Given the description of an element on the screen output the (x, y) to click on. 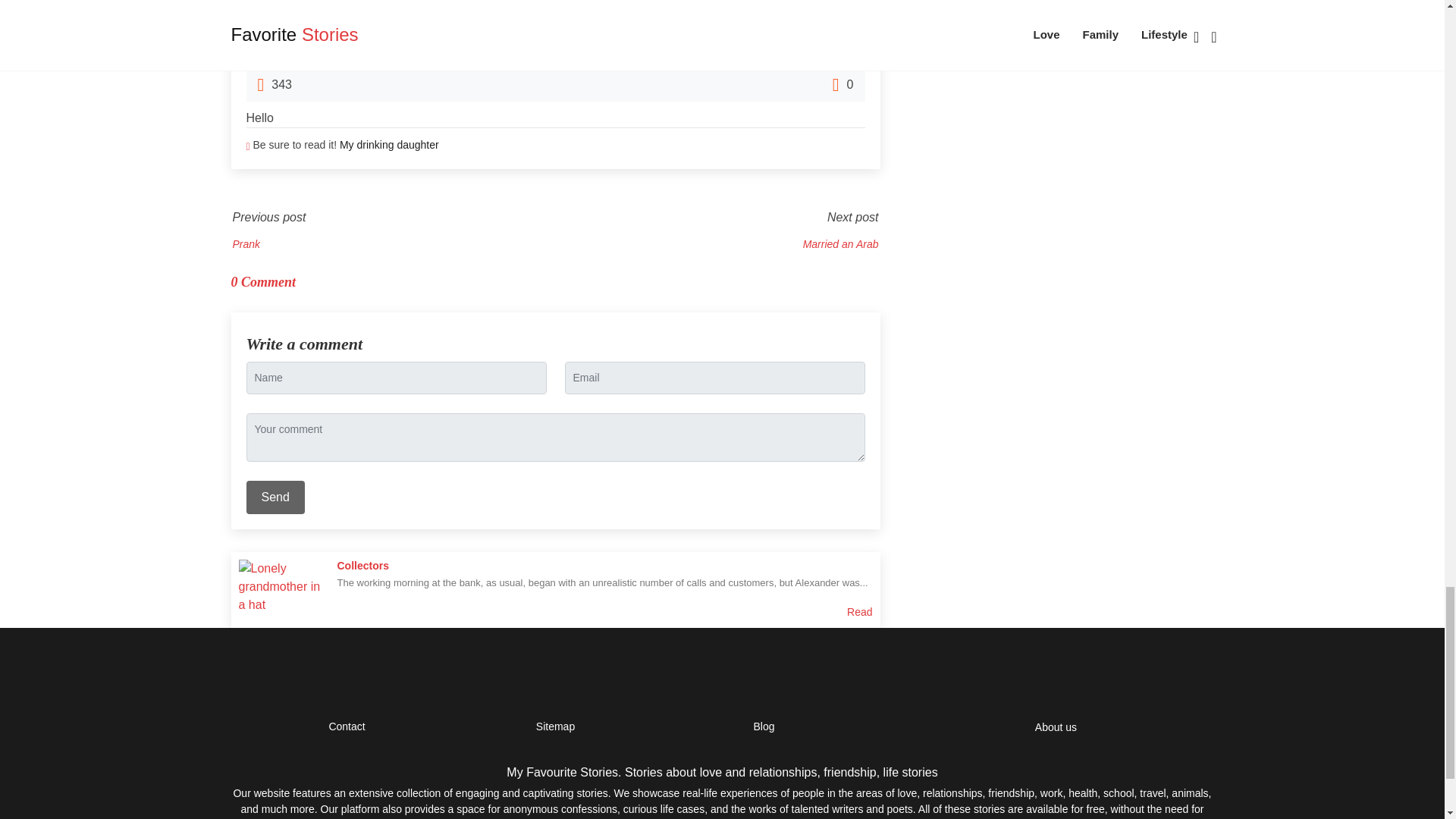
Prank (245, 244)
My drinking daughter (389, 144)
Collectors (362, 565)
Married an Arab (841, 244)
Send (275, 497)
Read (859, 611)
